Given the description of an element on the screen output the (x, y) to click on. 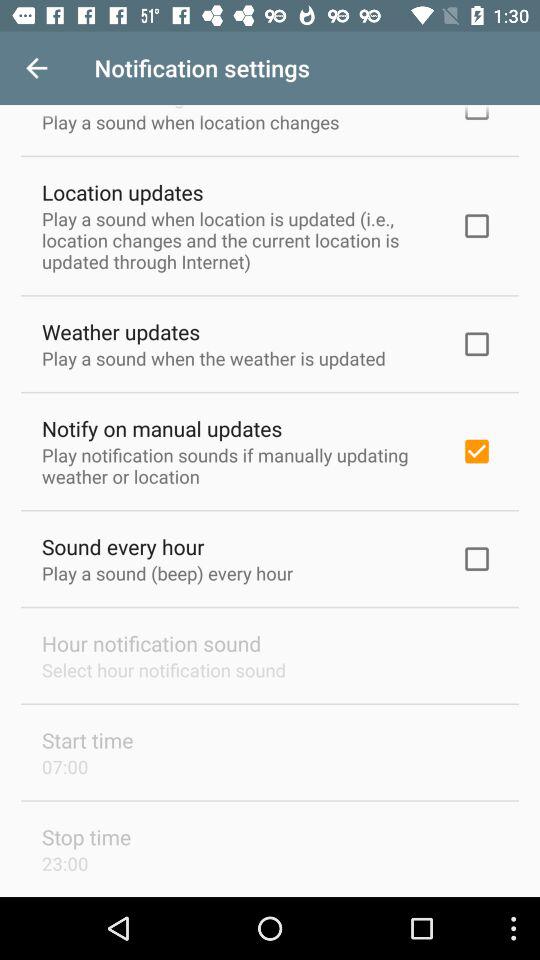
tap the item above the play a sound item (122, 192)
